Given the description of an element on the screen output the (x, y) to click on. 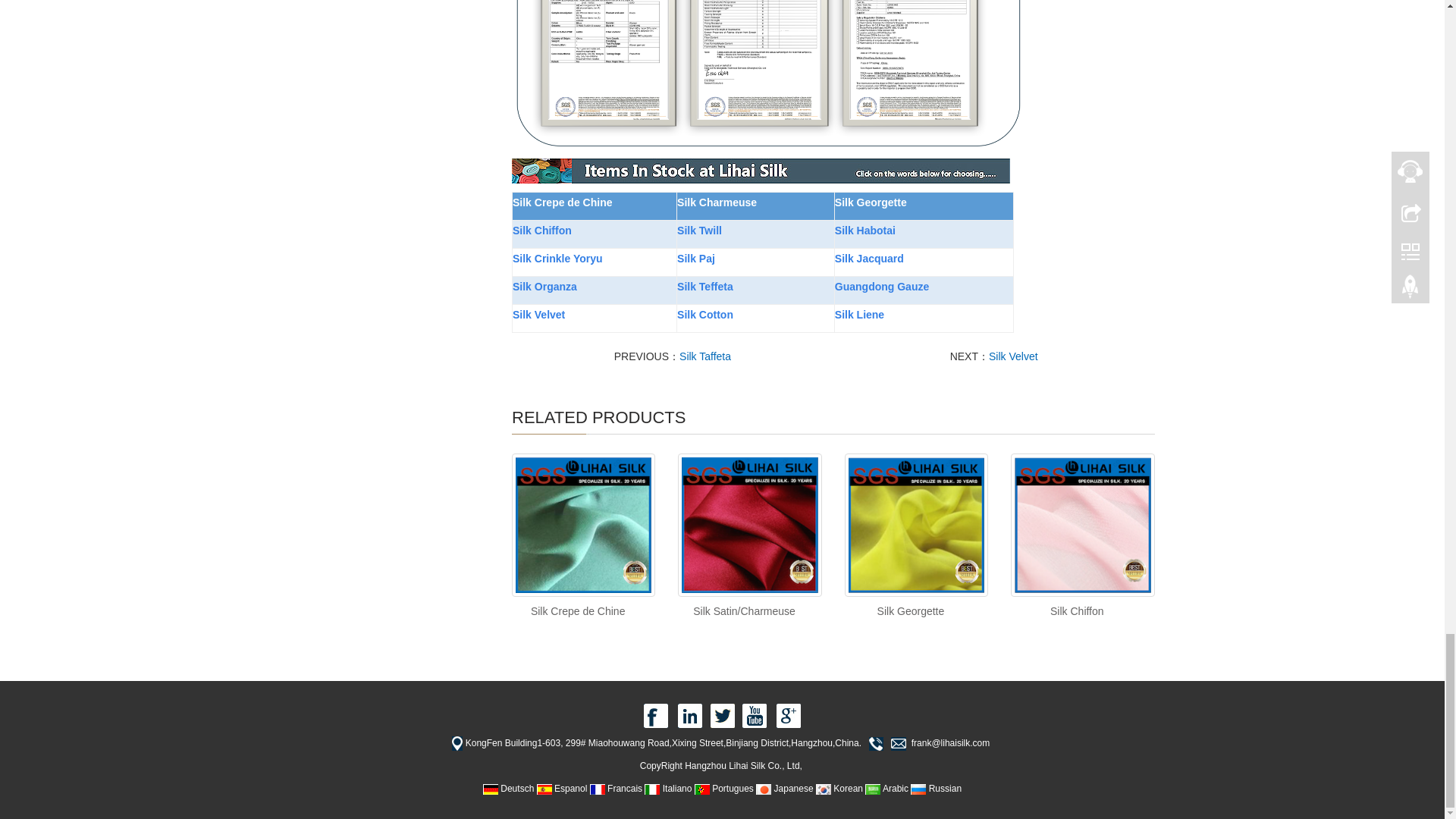
Silk Crinkle Yoryu (557, 257)
Silk Organza (544, 286)
Silk Georgette (870, 201)
Silk Crepe de Chine (561, 201)
Silk Velvet (538, 314)
Silk Jacquard (869, 257)
Silk Paj (695, 258)
Silk Georgette (910, 611)
Silk Twill (699, 230)
Silk Chiffon (1076, 611)
Silk Charmeuse (717, 202)
Silk Habotai (864, 229)
Silk Teffeta (705, 286)
Silk Cotton (705, 314)
Silk Crepe de Chine (578, 611)
